Given the description of an element on the screen output the (x, y) to click on. 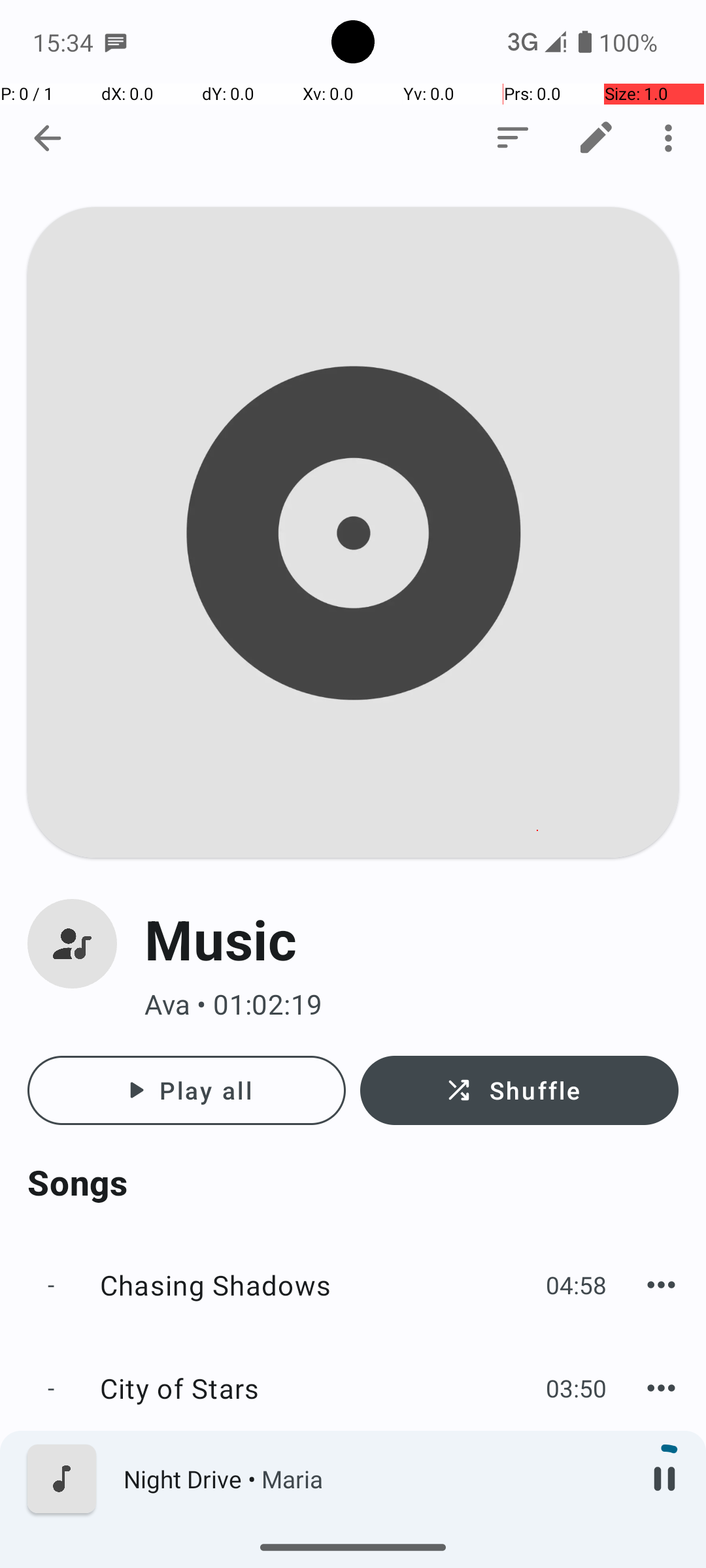
  Element type: android.widget.TextView (127, 138)
Sort order Element type: android.widget.Button (512, 137)
Tag editor Element type: android.widget.Button (595, 137)
Music Element type: android.widget.TextView (411, 939)
Ava • 01:02:19 Element type: android.widget.TextView (411, 1004)
Play all Element type: android.widget.Button (186, 1090)
Night Drive • Maria Element type: android.widget.TextView (372, 1478)
- Element type: android.widget.TextView (50, 1284)
Chasing Shadows Element type: android.widget.TextView (315, 1284)
04:58 Element type: android.widget.TextView (576, 1284)
City of Stars Element type: android.widget.TextView (315, 1387)
03:50 Element type: android.widget.TextView (576, 1387)
Distant Memories Element type: android.widget.TextView (315, 1490)
04:05 Element type: android.widget.TextView (576, 1490)
04:06 Element type: android.widget.TextView (576, 1566)
